Given the description of an element on the screen output the (x, y) to click on. 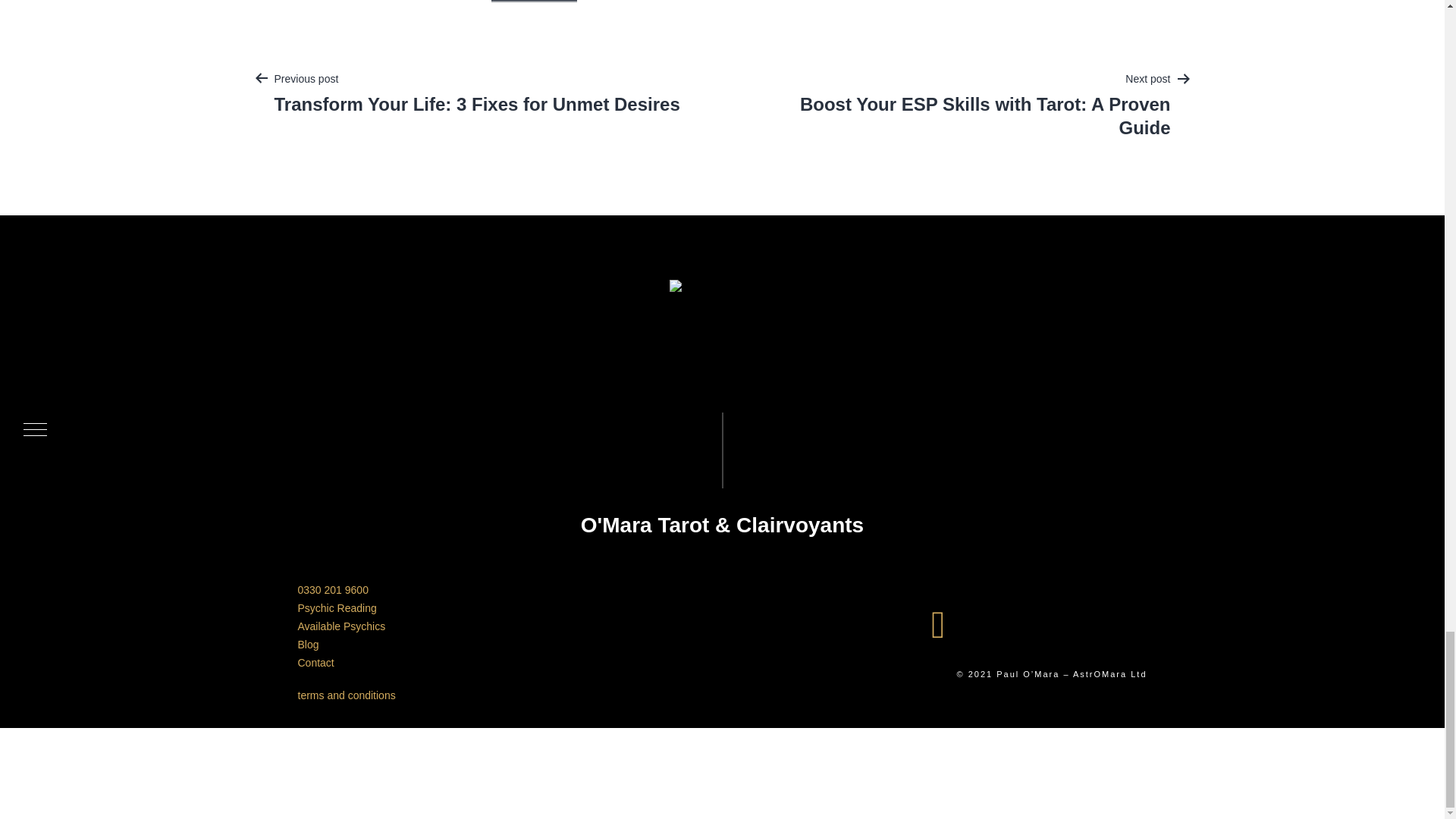
Post Comment (535, 1)
